Given the description of an element on the screen output the (x, y) to click on. 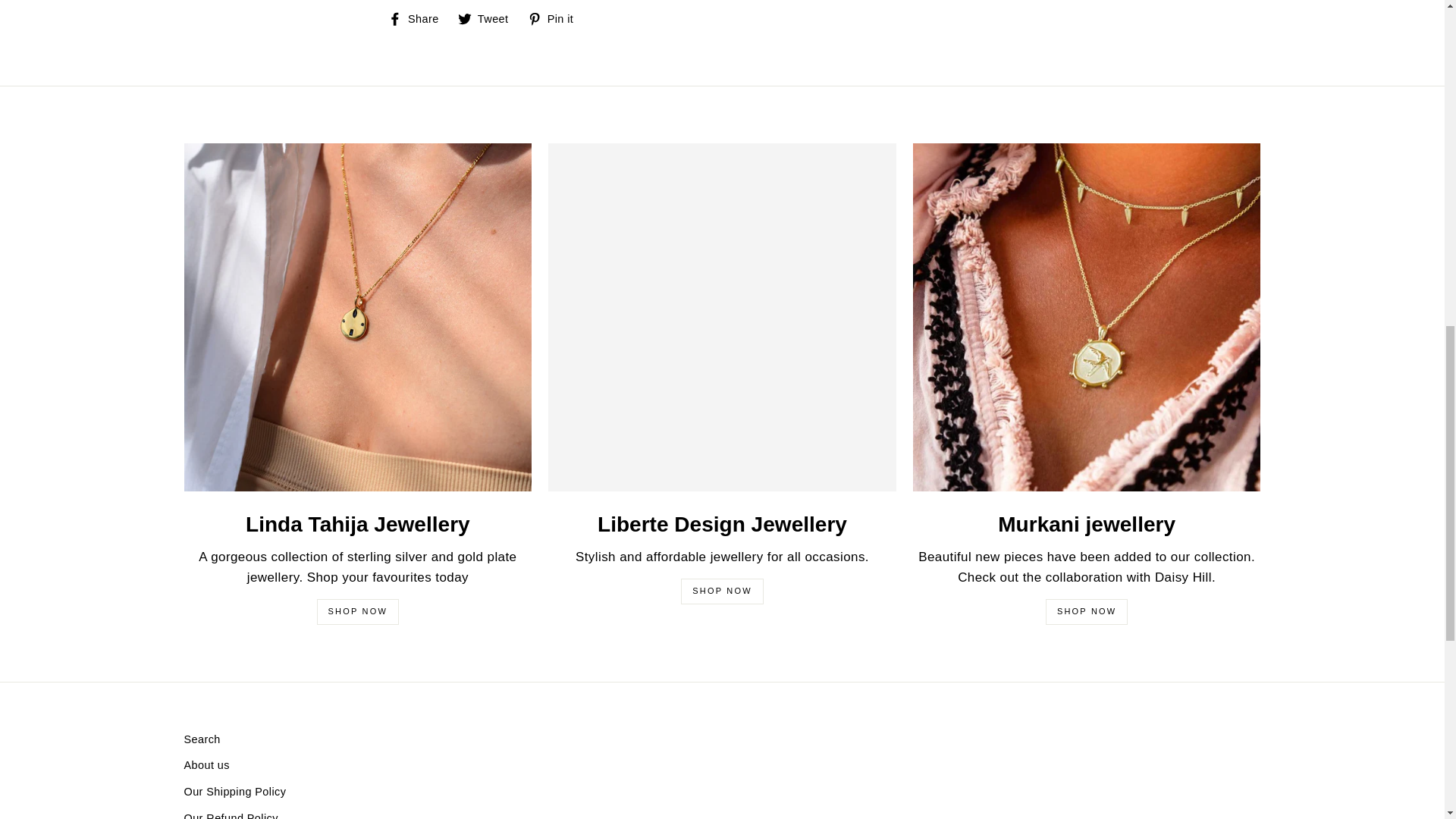
Share on Facebook (418, 18)
Tweet on Twitter (488, 18)
Pin on Pinterest (556, 18)
